Given the description of an element on the screen output the (x, y) to click on. 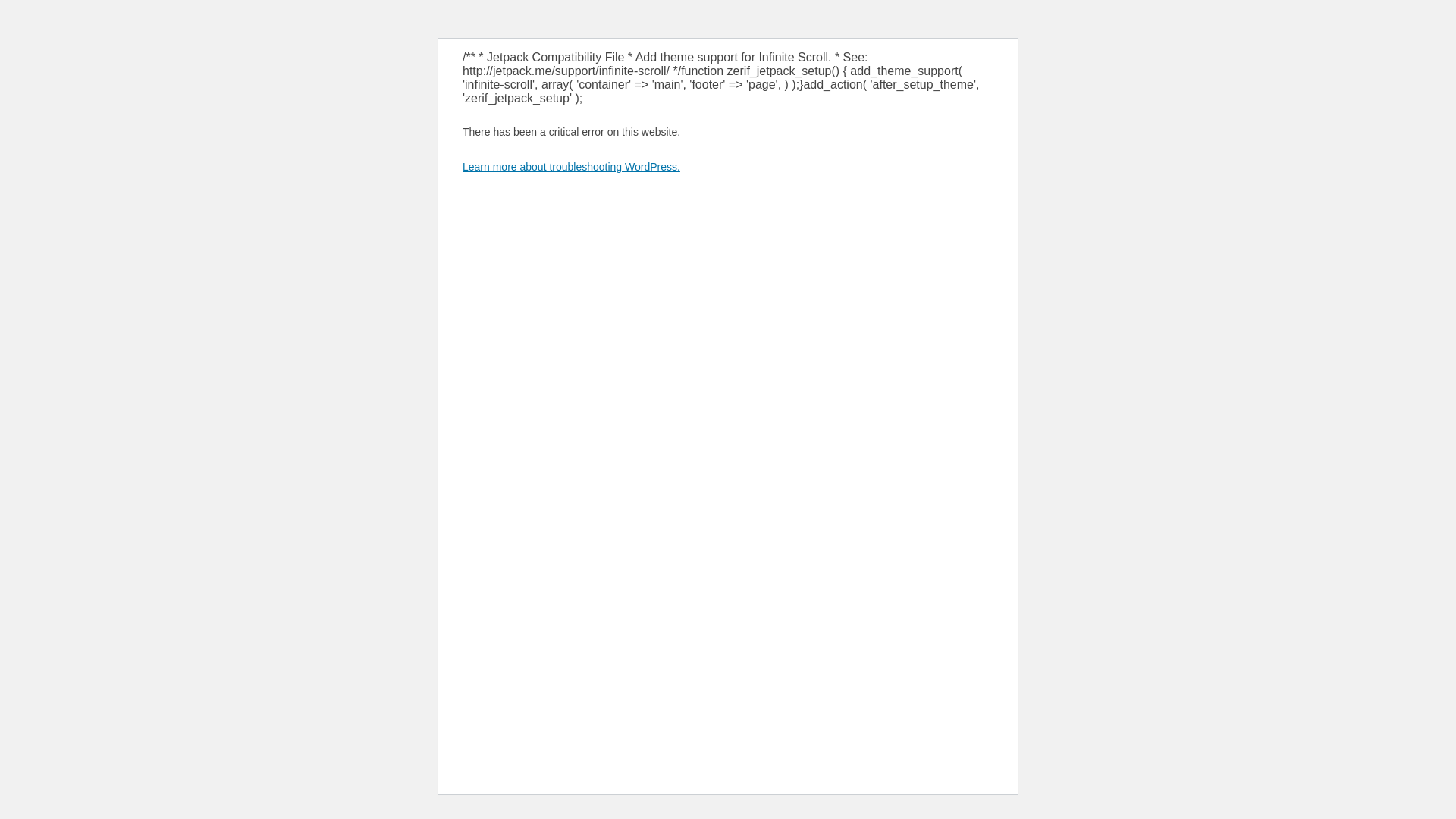
Learn more about troubleshooting WordPress. Element type: text (571, 166)
